Given the description of an element on the screen output the (x, y) to click on. 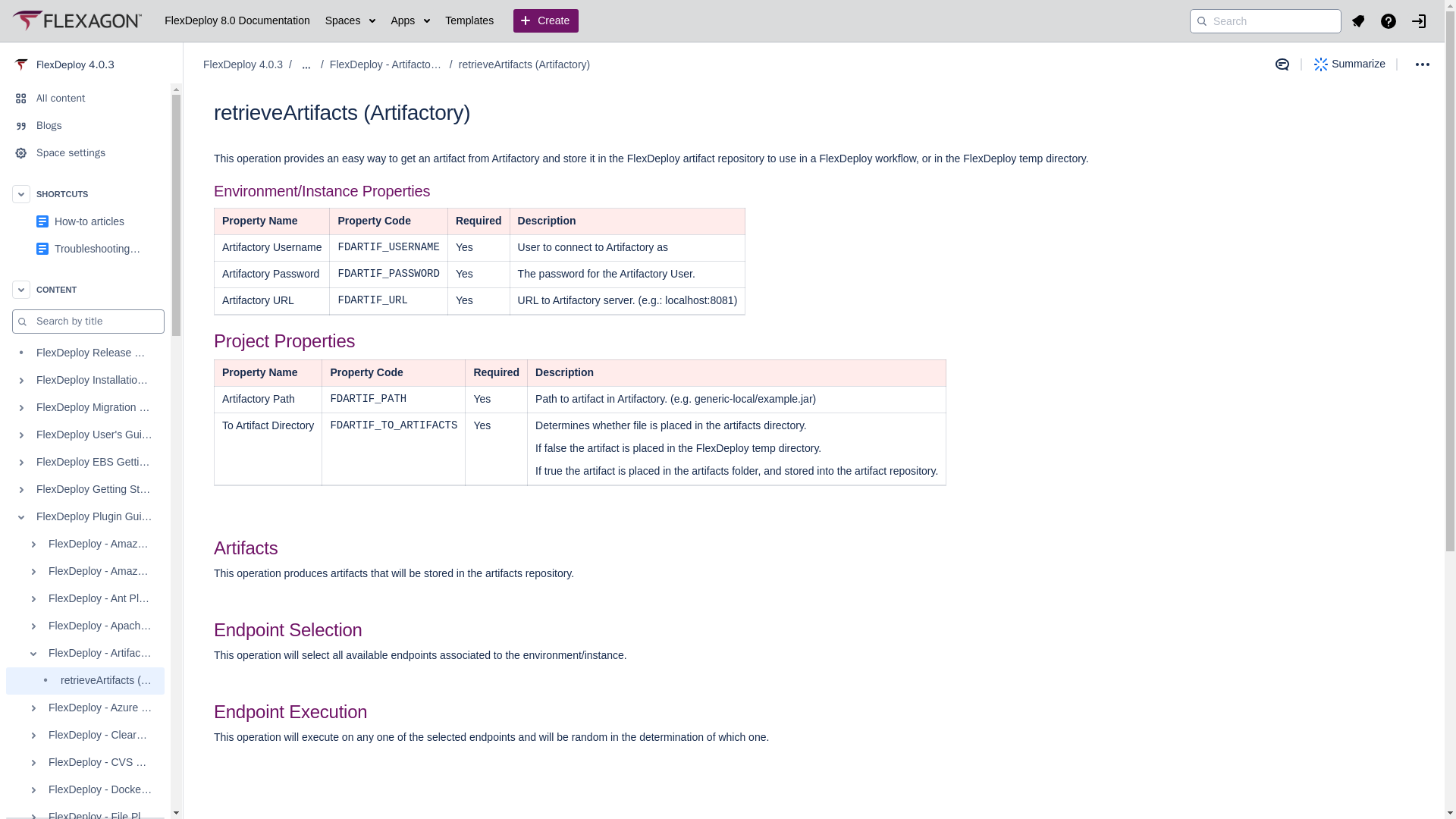
FlexDeploy - Amazon AWS Plugin Guide (84, 543)
CONTENT (84, 289)
FlexDeploy 4.0.3 (90, 64)
How-to articles (84, 221)
How-to articles (89, 221)
Spaces (350, 21)
FlexDeploy - Ant Plugin Guide (84, 598)
FlexDeploy Migration Guide (84, 407)
FlexDeploy - Amazon EC2 Plugin Guide (84, 571)
FlexDeploy EBS Getting Started (84, 461)
